Given the description of an element on the screen output the (x, y) to click on. 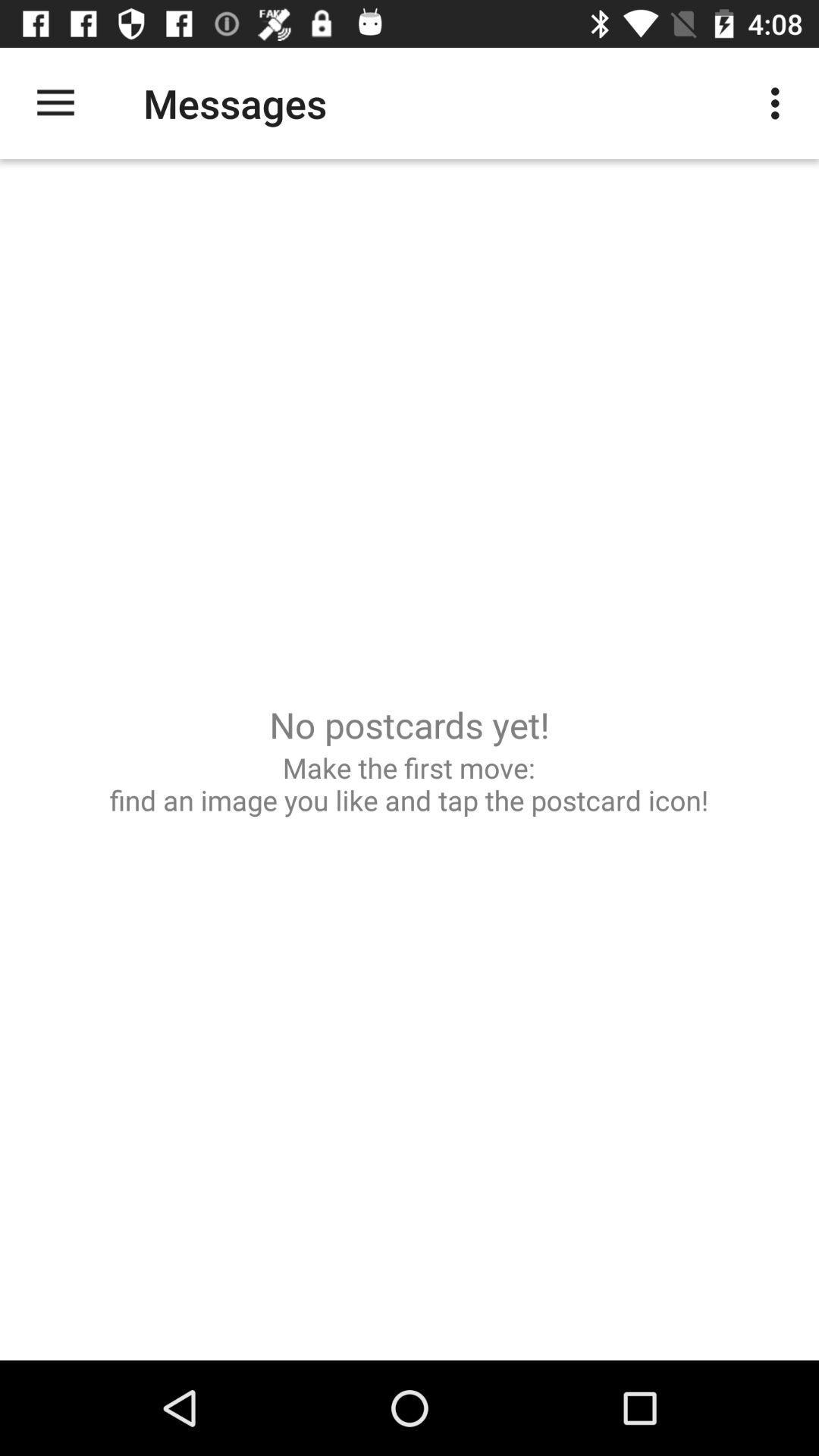
select the icon to the left of the messages (55, 103)
